Given the description of an element on the screen output the (x, y) to click on. 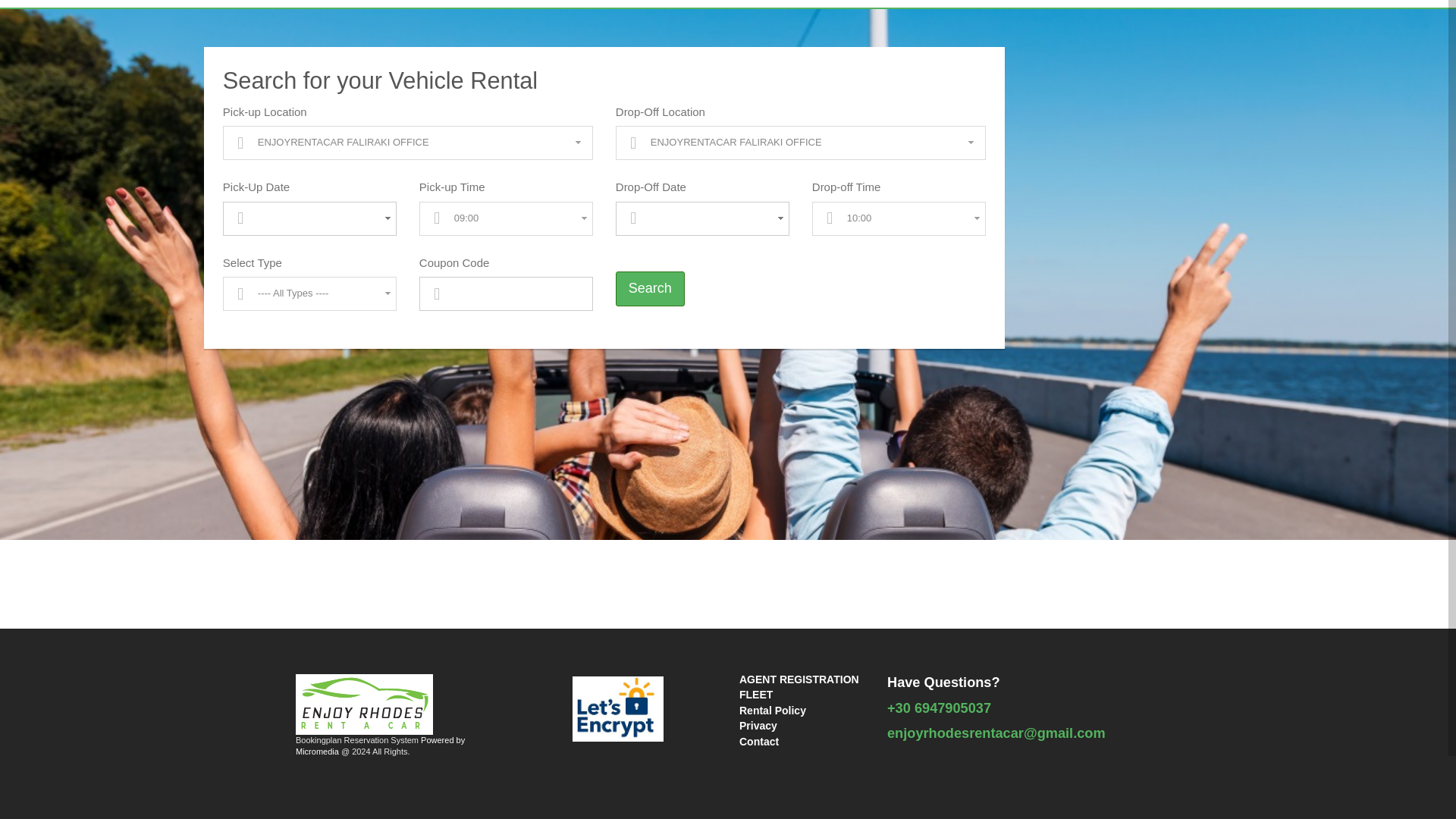
Powered by Micromedia (379, 745)
Contact (758, 741)
Privacy (758, 725)
Search (649, 288)
AGENT REGISTRATION (799, 679)
FLEET (756, 694)
Rental Policy (772, 710)
